Given the description of an element on the screen output the (x, y) to click on. 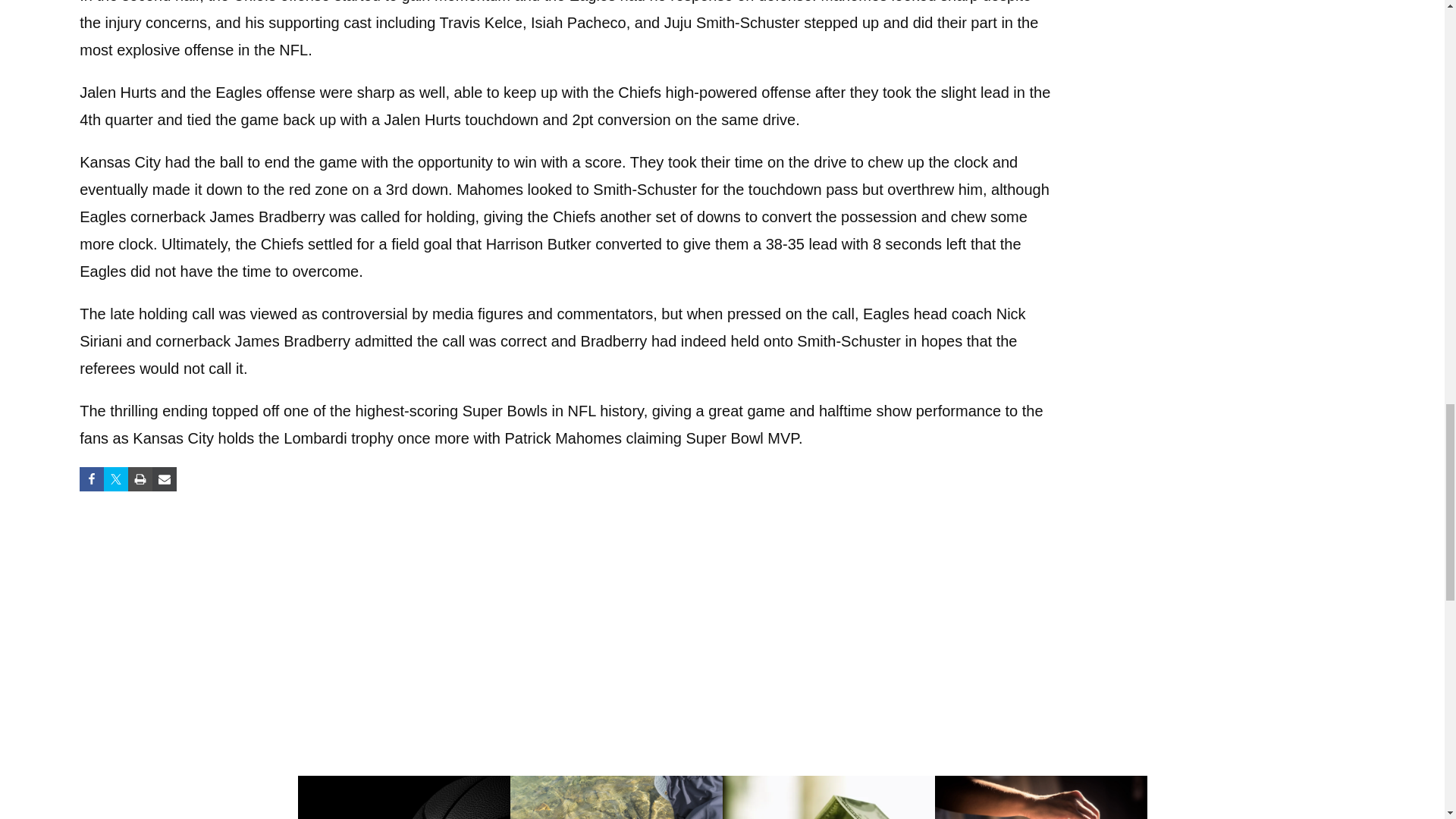
Share on Twitter (115, 478)
Share on Facebook (91, 478)
Share via Email (164, 478)
Print this Page (140, 478)
